Given the description of an element on the screen output the (x, y) to click on. 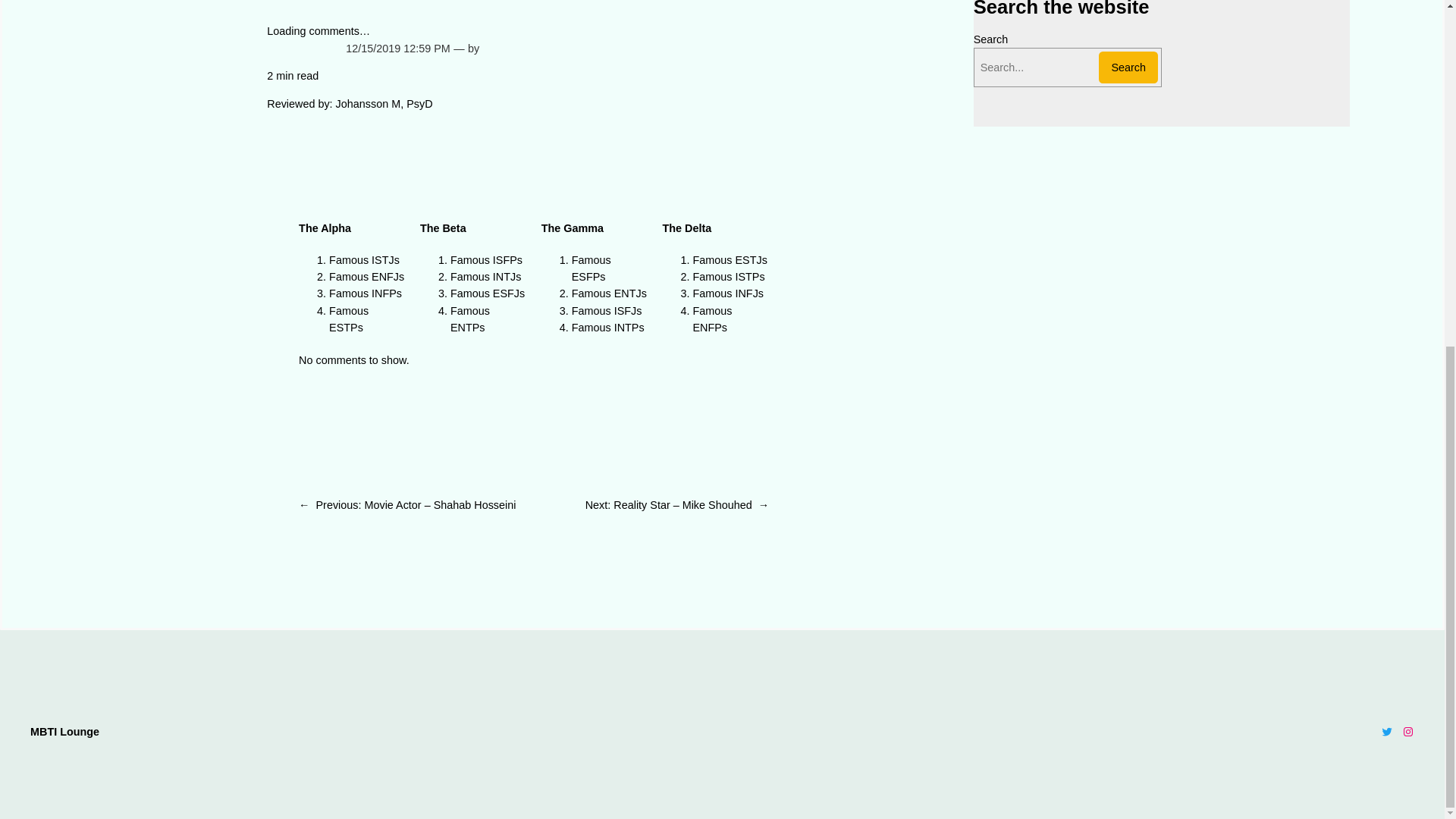
Famous INTPs (608, 327)
Famous ISFPs (485, 259)
Famous ESTJs (730, 259)
Famous ESFJs (486, 293)
Famous ENTJs (609, 293)
Famous ENTPs (469, 318)
Search (1128, 67)
Famous ISTPs (728, 276)
Famous ENFJs (366, 276)
Famous ENFPs (712, 318)
Famous INFJs (727, 293)
Famous INFPs (365, 293)
MBTI Lounge (64, 731)
Famous ESTPs (348, 318)
Twitter (1386, 731)
